Given the description of an element on the screen output the (x, y) to click on. 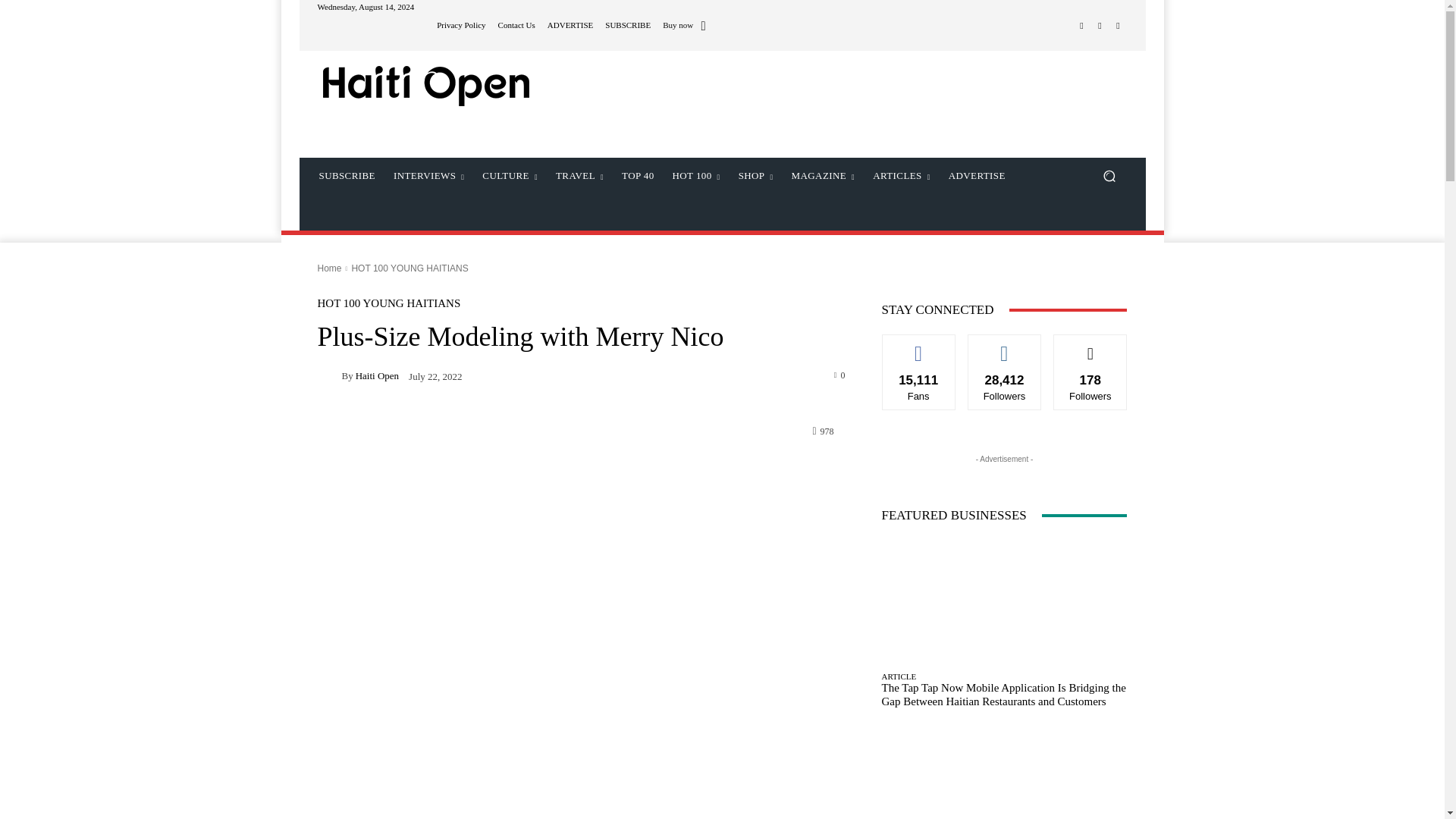
ADVERTISE (569, 25)
Contact Us (516, 25)
Twitter (1117, 25)
SUBSCRIBE (627, 25)
Facebook (1080, 25)
Instagram (1099, 25)
Privacy Policy (460, 25)
